Given the description of an element on the screen output the (x, y) to click on. 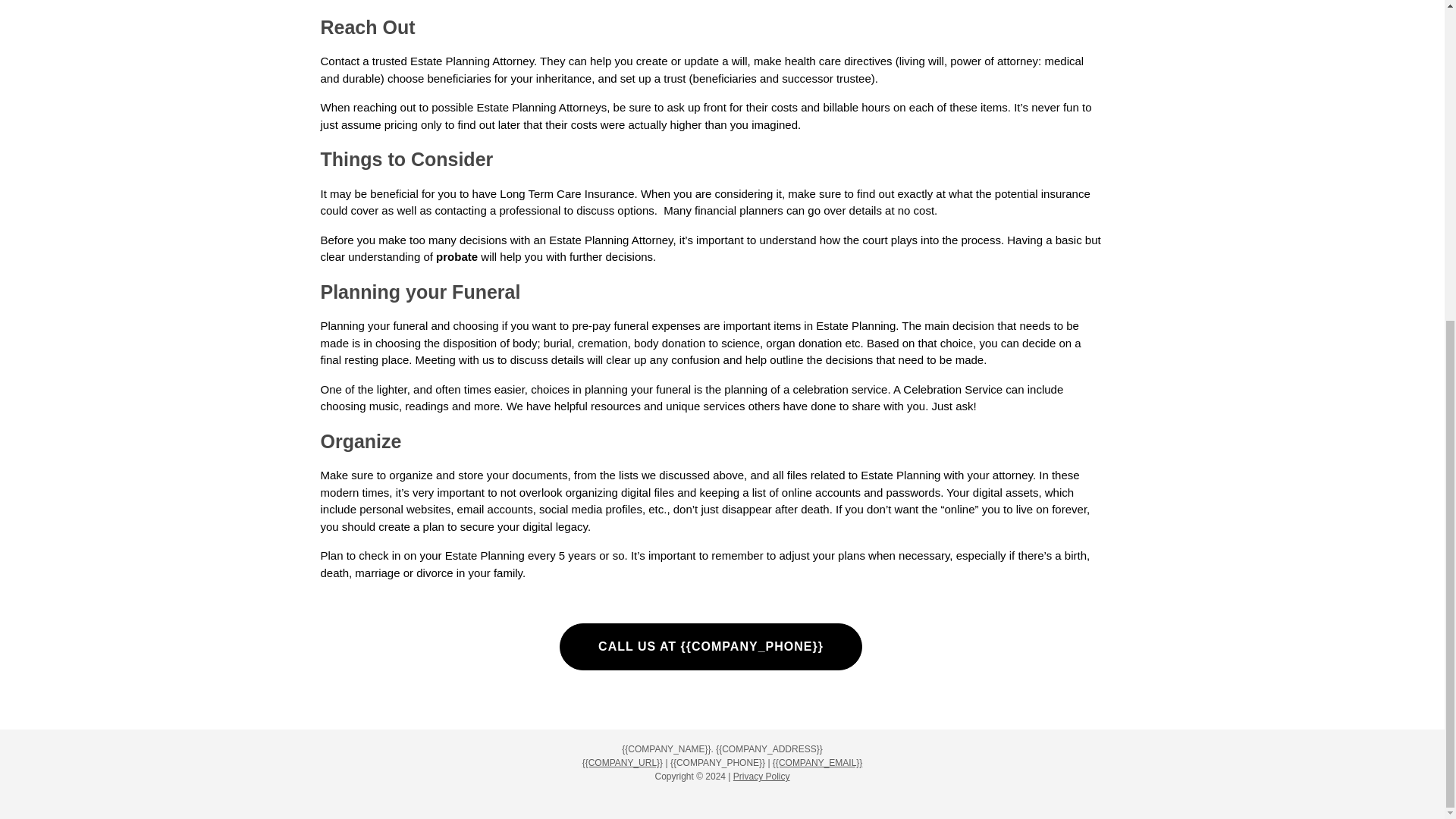
Privacy Policy (761, 776)
Page 2 (710, 564)
Page 2 (710, 366)
